Given the description of an element on the screen output the (x, y) to click on. 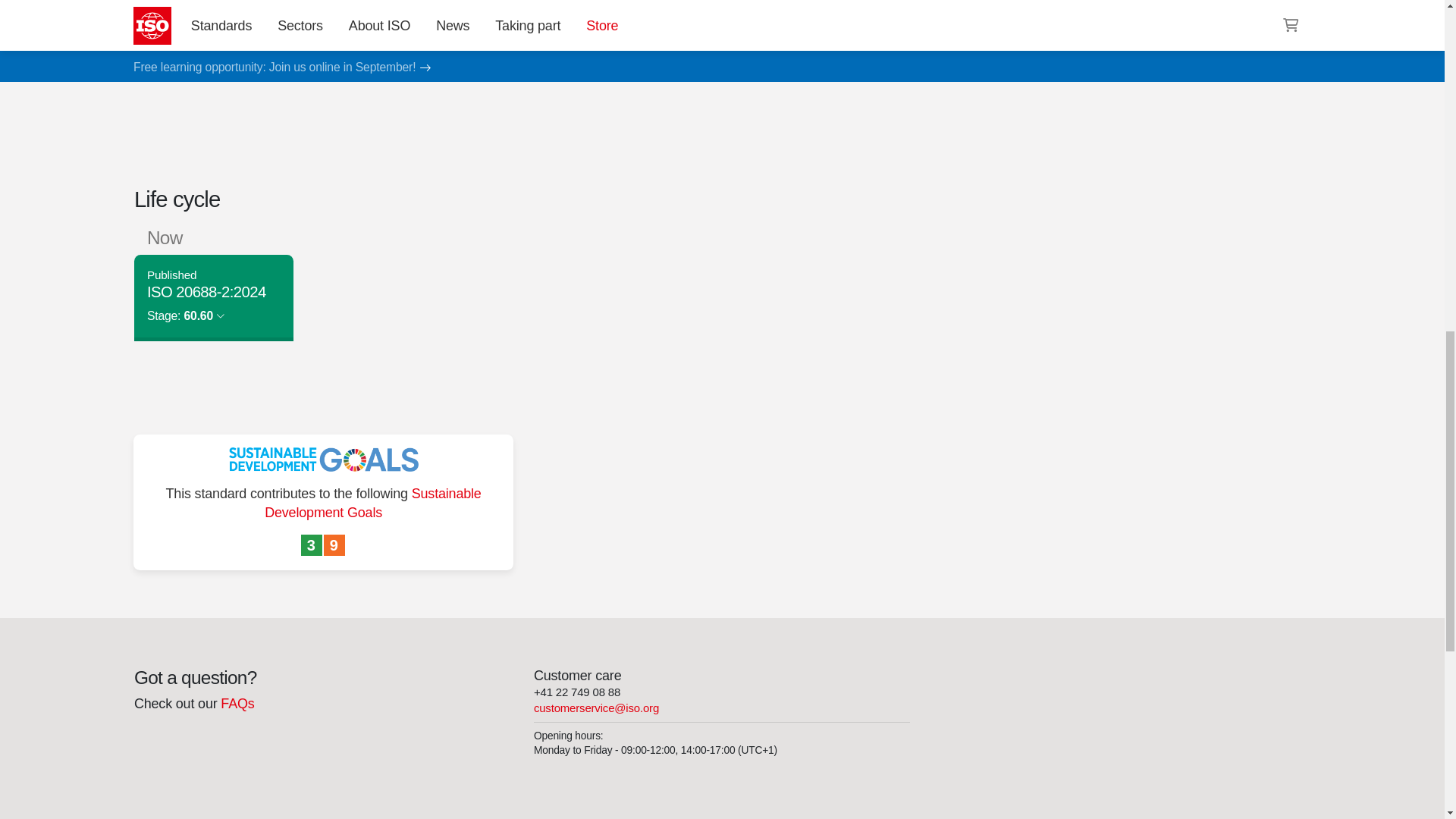
Stage: 60.60 (185, 314)
07.080 (988, 7)
RSS (956, 37)
Biology. Botany. Zoology (988, 7)
